Given the description of an element on the screen output the (x, y) to click on. 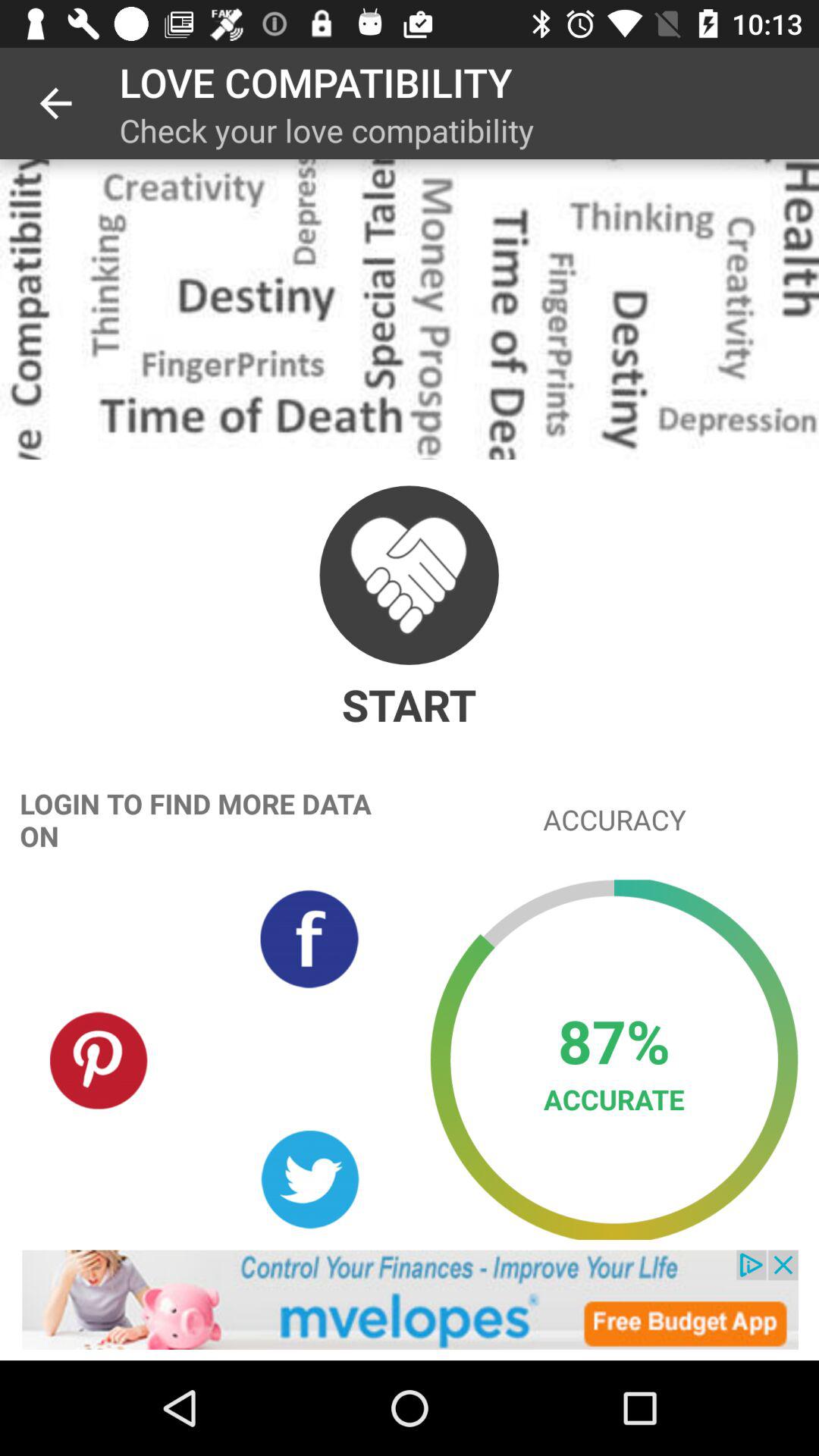
share on pinterest (99, 1059)
